Given the description of an element on the screen output the (x, y) to click on. 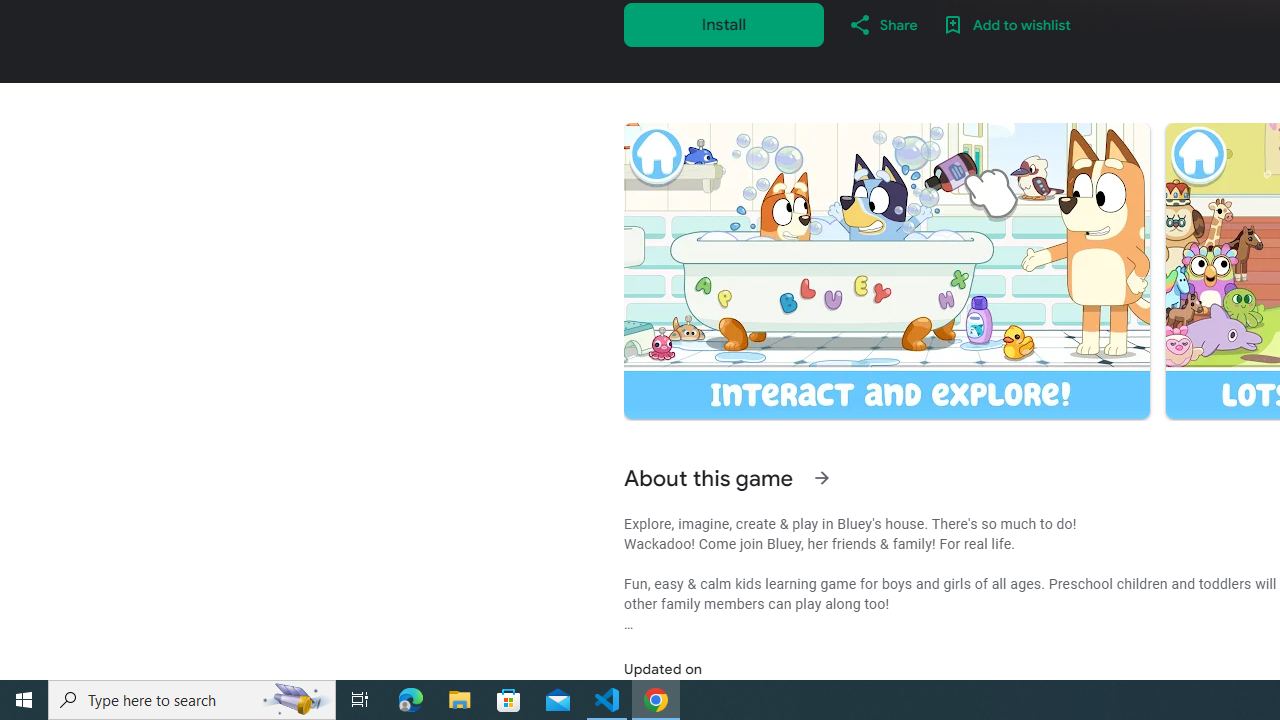
Share (881, 24)
Add to wishlist (1006, 24)
See more information on About this game (821, 477)
Screenshot image (886, 271)
Install (723, 24)
